Given the description of an element on the screen output the (x, y) to click on. 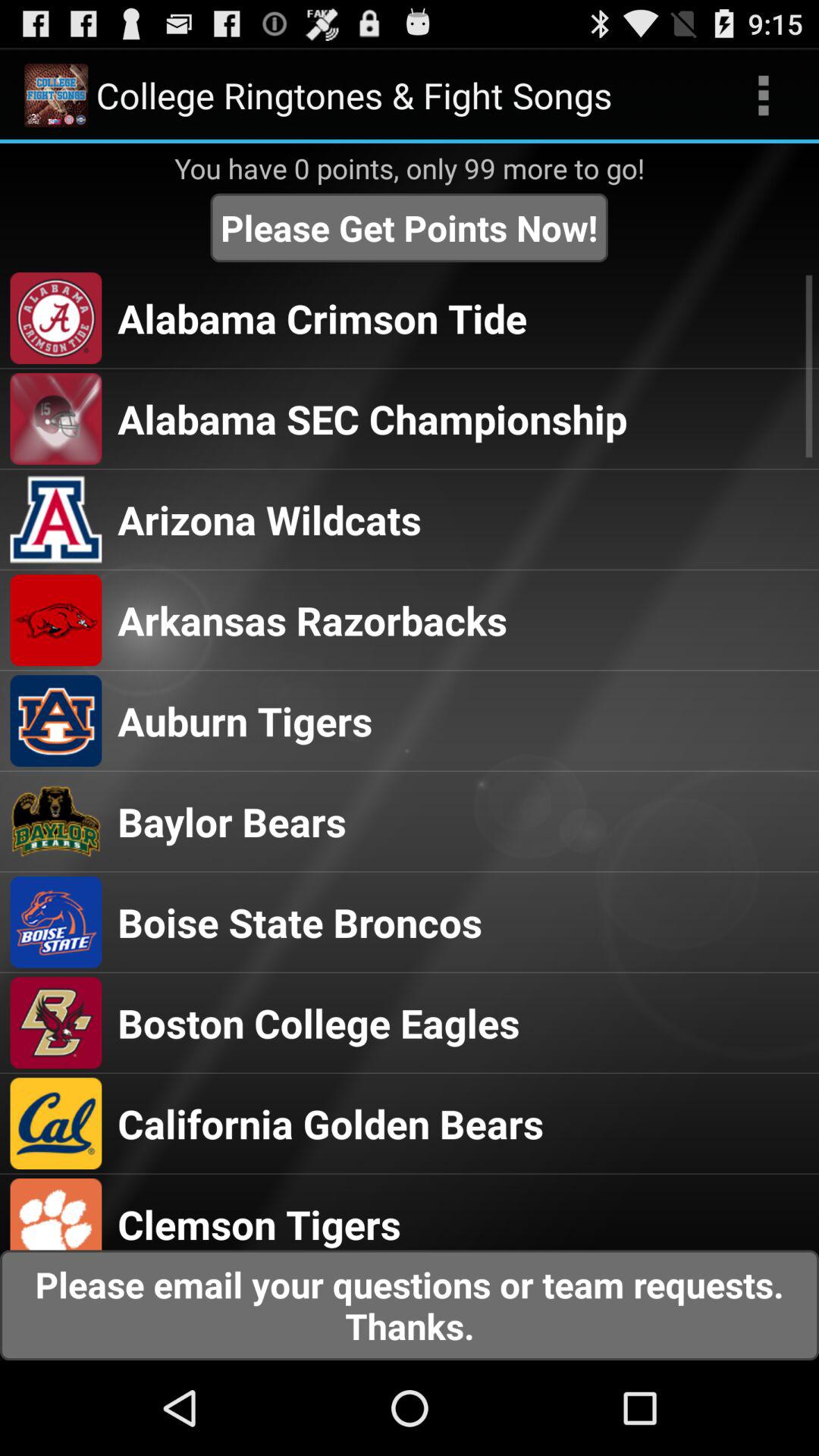
click app above the auburn tigers item (312, 619)
